Given the description of an element on the screen output the (x, y) to click on. 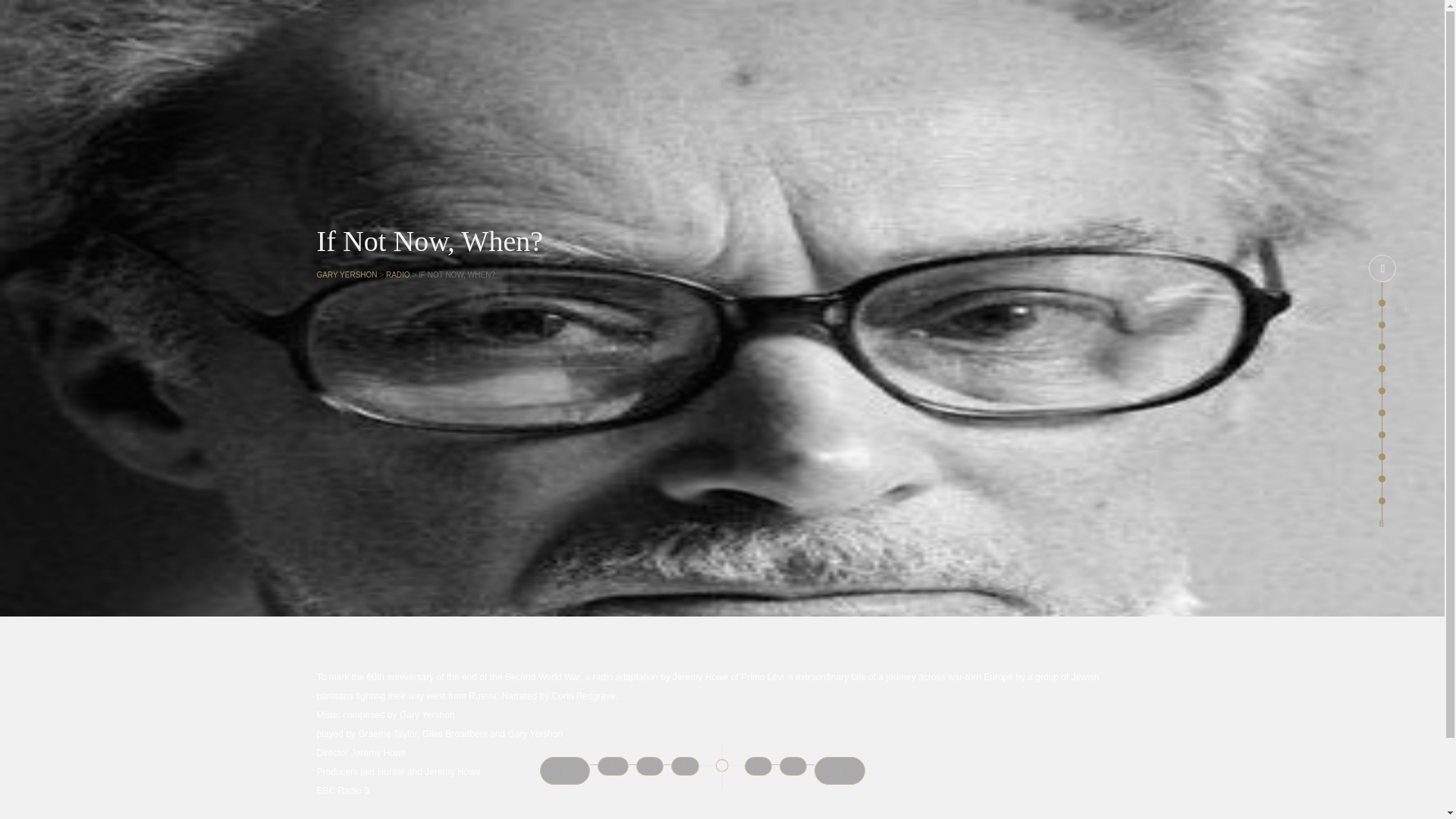
Go to Gary Yershon. (347, 275)
Go to the Radio category archives. (397, 275)
GARY YERSHON (347, 275)
RADIO (397, 275)
Search (21, 12)
